Given the description of an element on the screen output the (x, y) to click on. 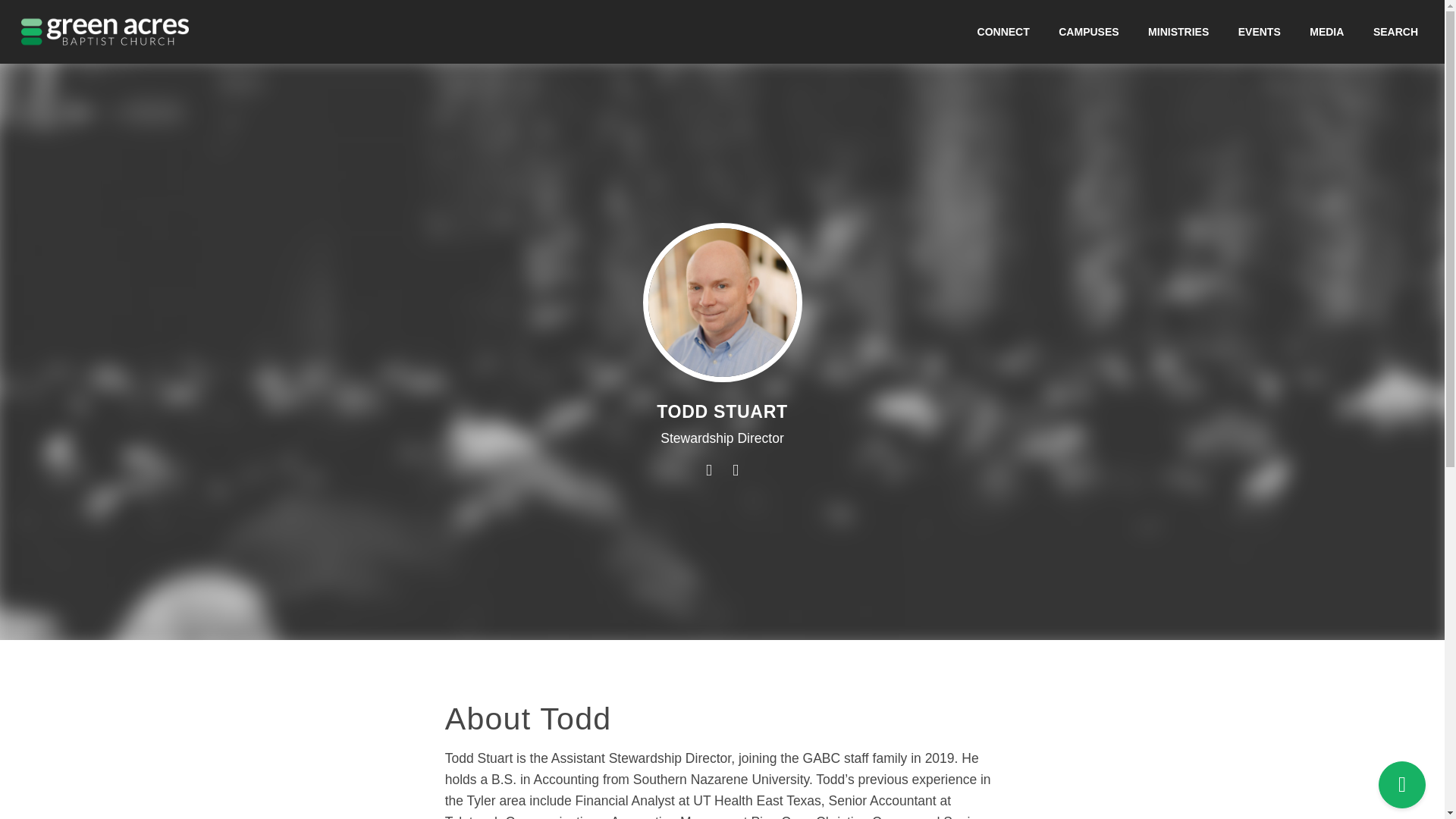
MEDIA (1326, 31)
MINISTRIES (1178, 31)
SEARCH (1395, 31)
CONNECT (1003, 31)
EVENTS (1259, 31)
CAMPUSES (1088, 31)
